Given the description of an element on the screen output the (x, y) to click on. 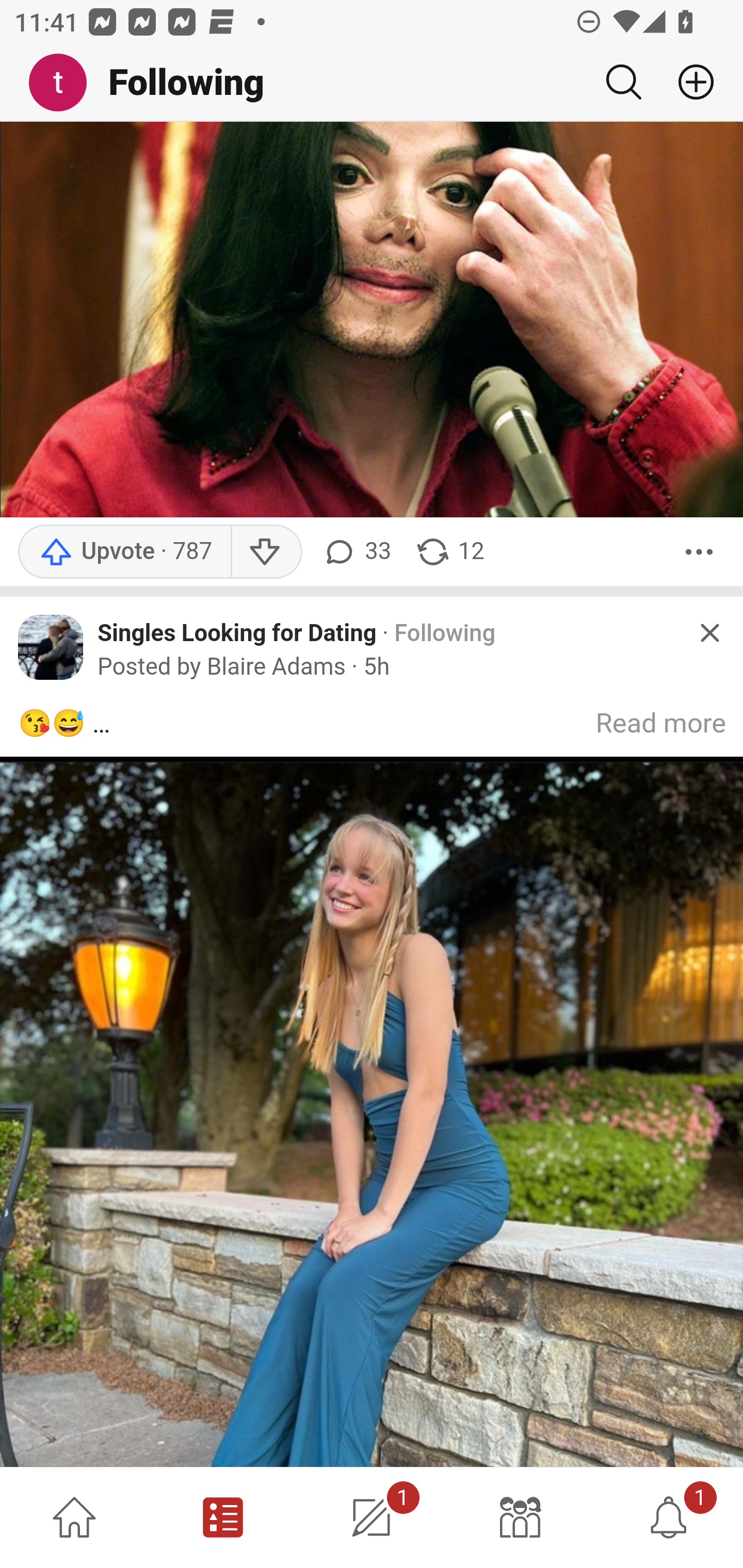
Me (64, 83)
Search (623, 82)
Add (688, 82)
Upvote (124, 551)
Downvote (266, 551)
33 comments (356, 551)
12 shares (448, 551)
More (699, 551)
Hide (709, 632)
Icon for Singles Looking for Dating (50, 648)
Singles Looking for Dating (237, 633)
Following (444, 634)
😘😅   … Read more (372, 1085)
1 (371, 1517)
1 (668, 1517)
